Given the description of an element on the screen output the (x, y) to click on. 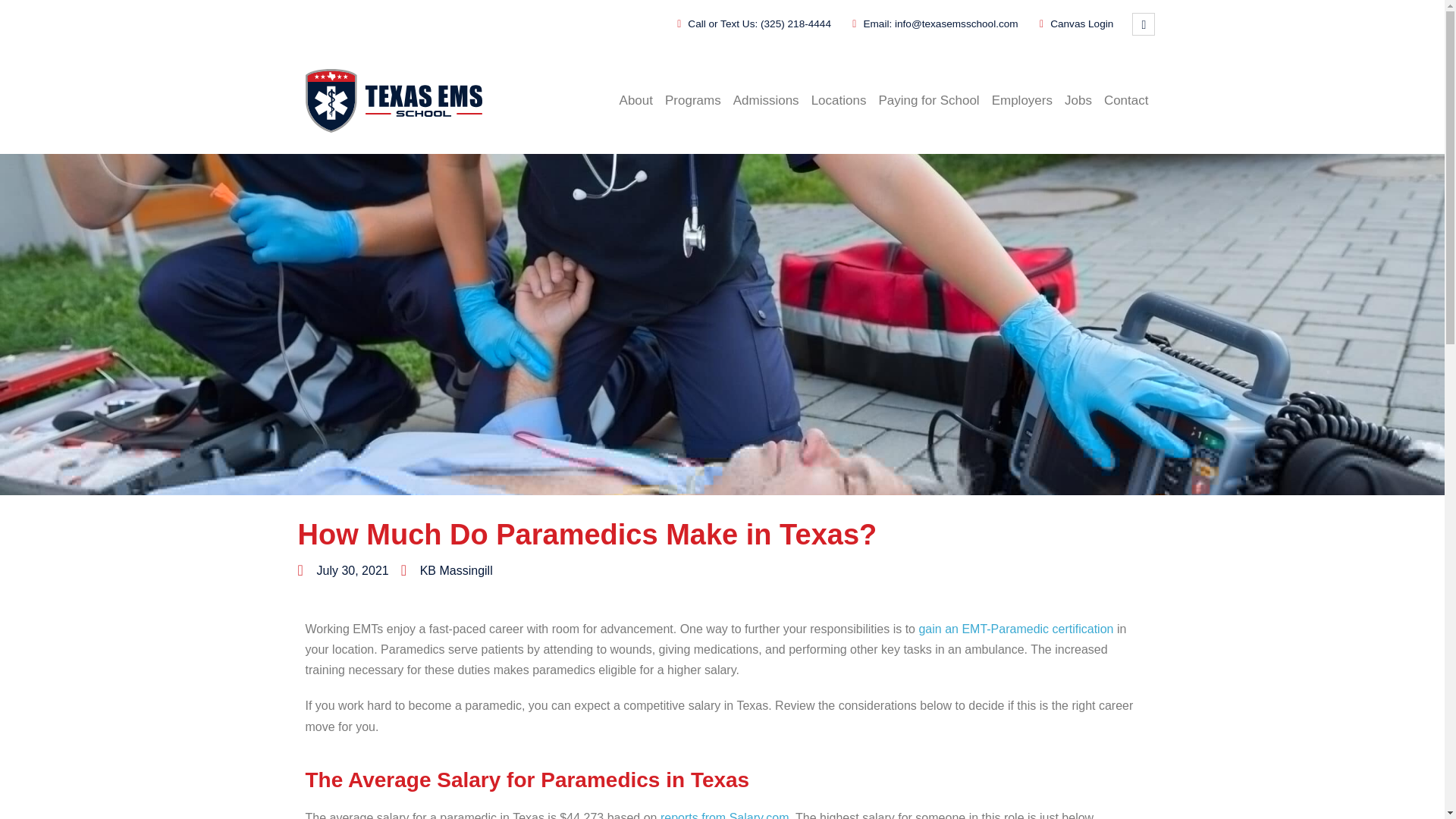
Contact (1125, 100)
Employers (1021, 100)
Canvas Login (1071, 23)
Jobs (1077, 100)
Admissions (765, 100)
Locations (838, 100)
Programs (692, 100)
Paying for School (928, 100)
About (635, 100)
